Given the description of an element on the screen output the (x, y) to click on. 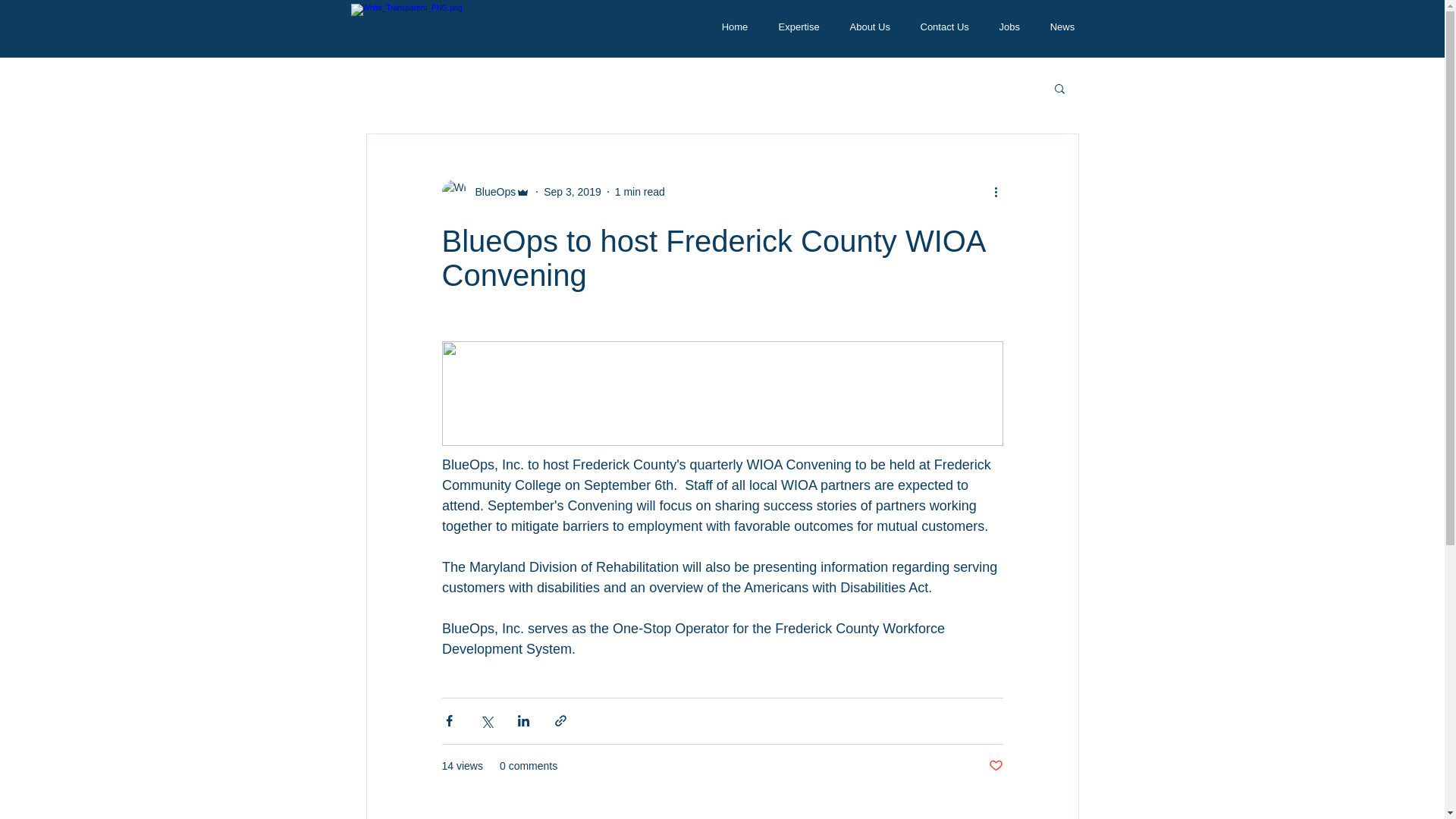
BlueOps (490, 191)
Post not marked as liked (995, 765)
About Us (869, 27)
News (1061, 27)
Home (734, 27)
Sep 3, 2019 (572, 191)
Expertise (798, 27)
Contact Us (944, 27)
Jobs (1009, 27)
1 min read (639, 191)
